Given the description of an element on the screen output the (x, y) to click on. 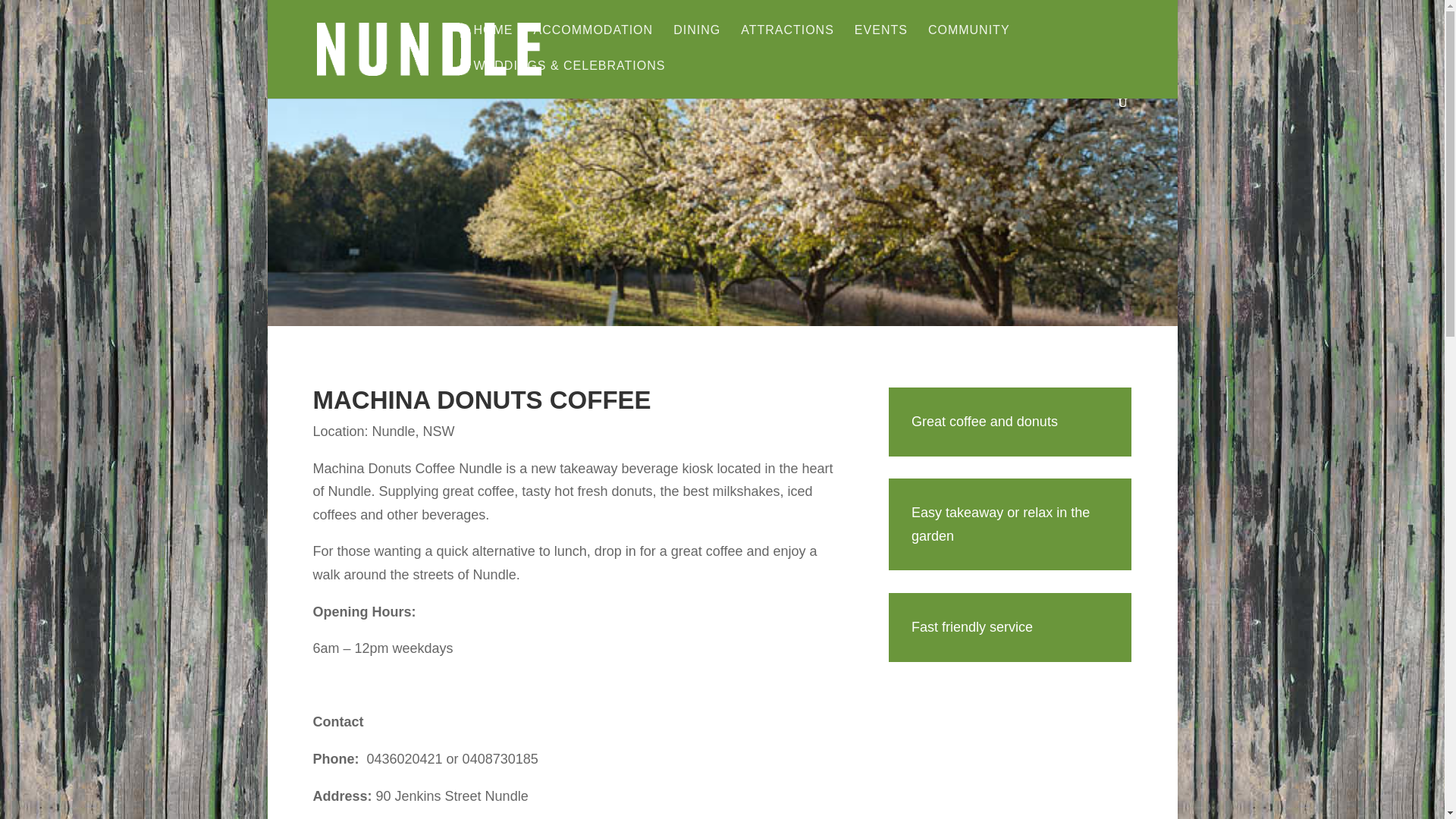
COMMUNITY (969, 42)
ACCOMMODATION (593, 42)
DINING (696, 42)
ATTRACTIONS (787, 42)
EVENTS (880, 42)
HOME (492, 42)
